Given the description of an element on the screen output the (x, y) to click on. 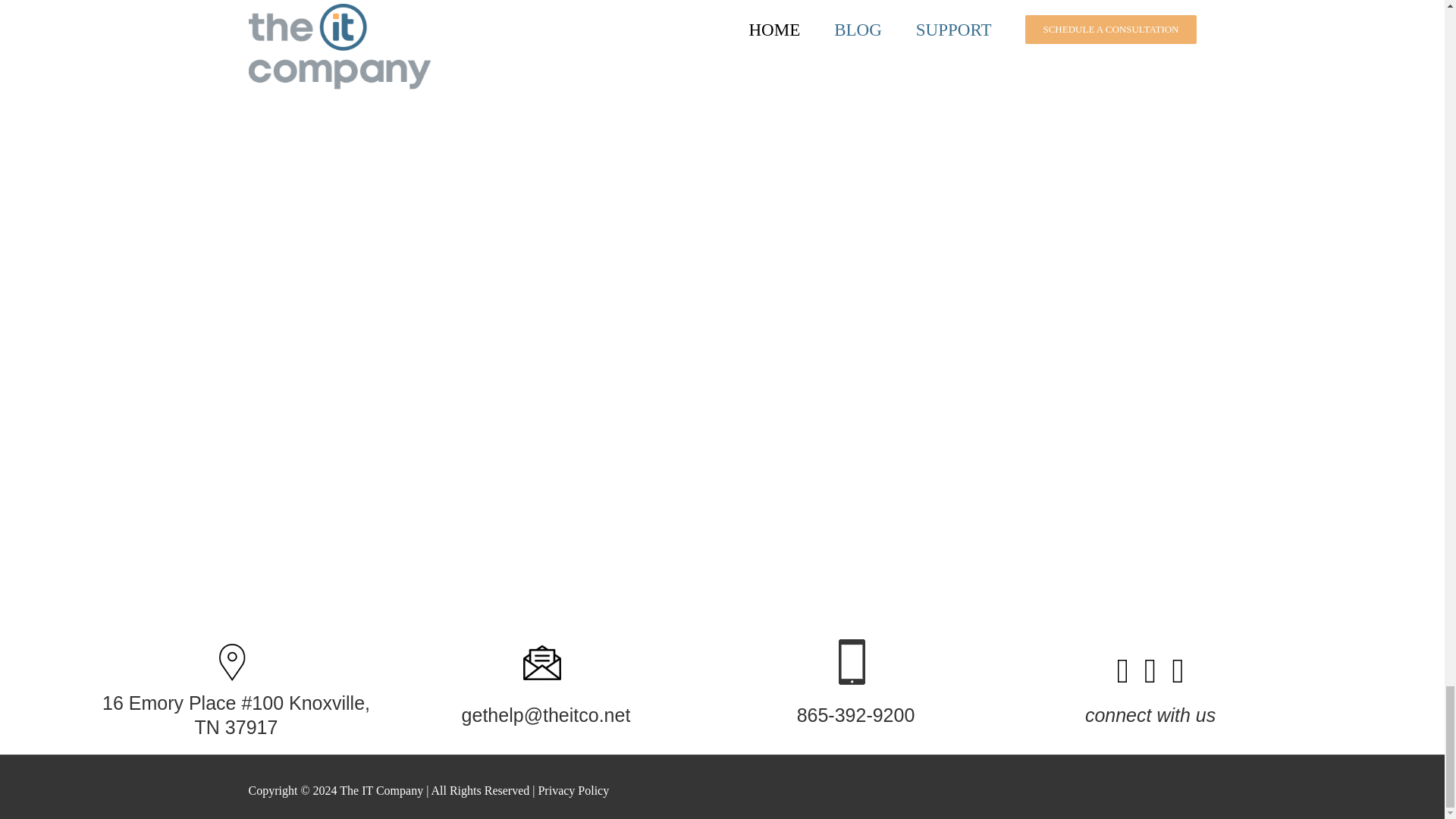
Schedule a Consultation (425, 196)
message (541, 662)
Privacy Policy (571, 789)
